Given the description of an element on the screen output the (x, y) to click on. 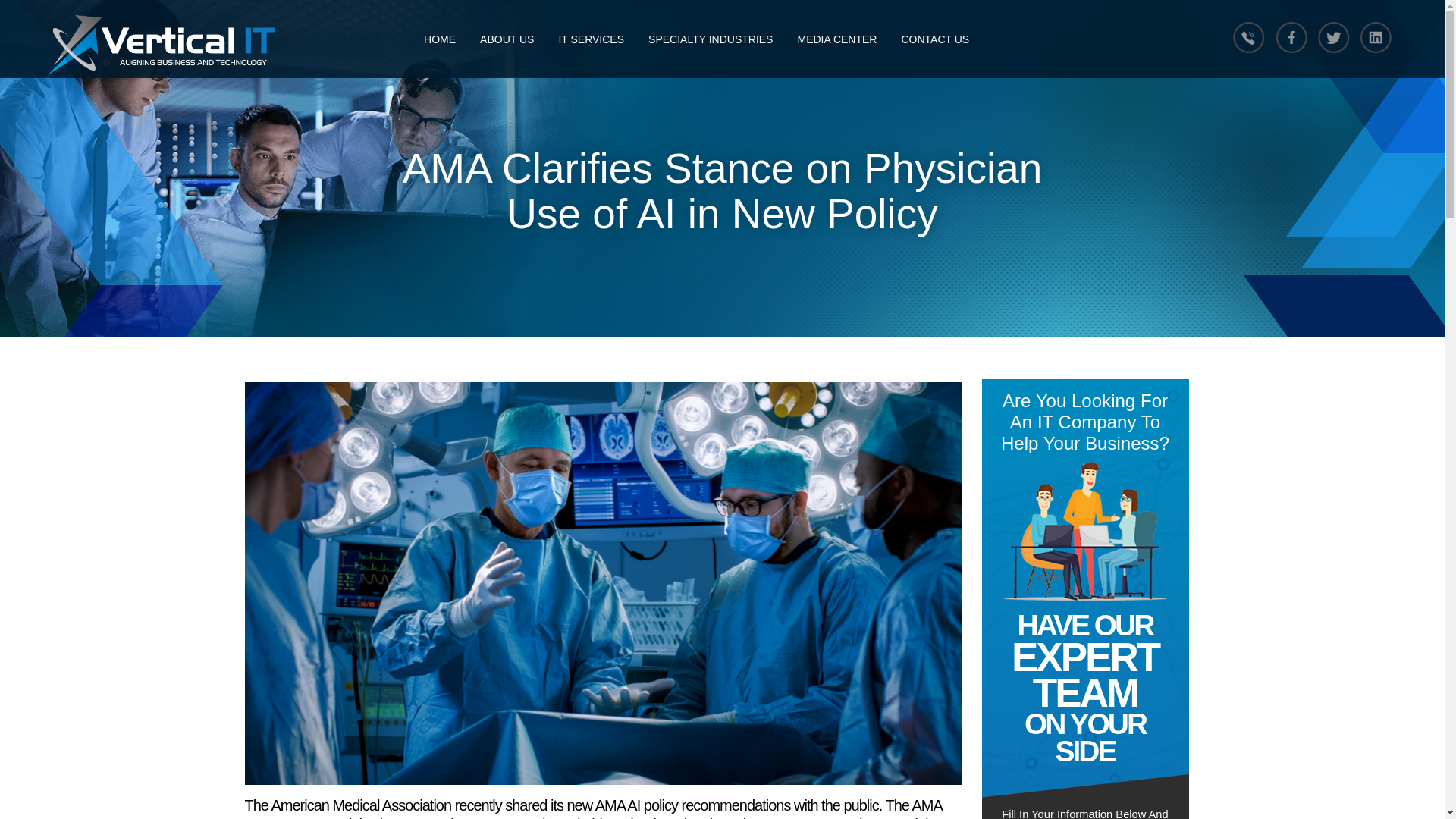
Linkedin (1376, 36)
Facebook (1289, 36)
CONTACT US (934, 38)
SPECIALTY INDUSTRIES (710, 38)
Phone (1245, 36)
Twitter (1333, 36)
MEDIA CENTER (836, 38)
IT SERVICES (591, 38)
ABOUT US (506, 38)
